Given the description of an element on the screen output the (x, y) to click on. 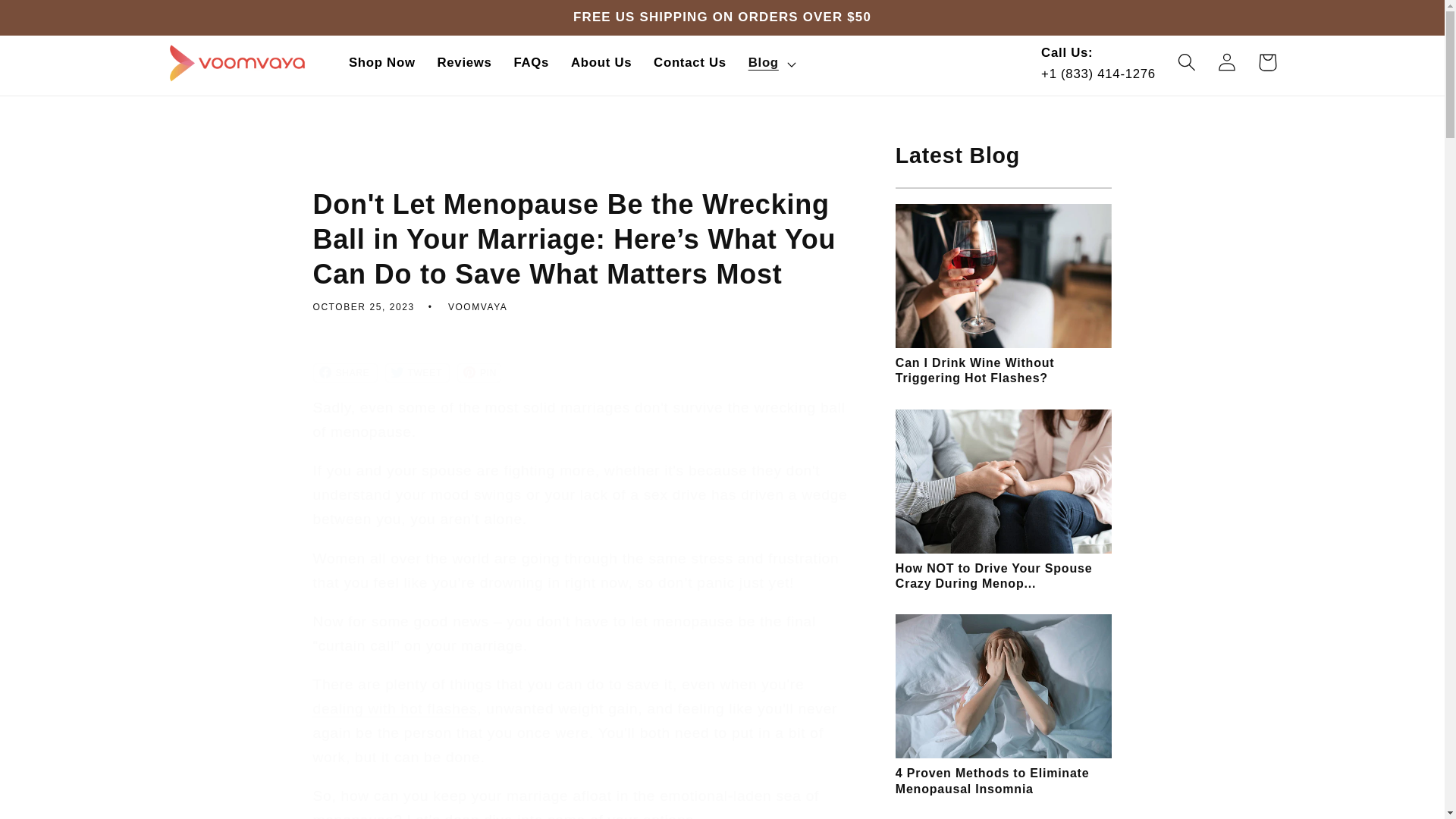
Reviews (464, 63)
About Us (601, 63)
Shop Now (381, 63)
FAQs (531, 63)
Contact Us (690, 63)
Skip to content (56, 21)
